Given the description of an element on the screen output the (x, y) to click on. 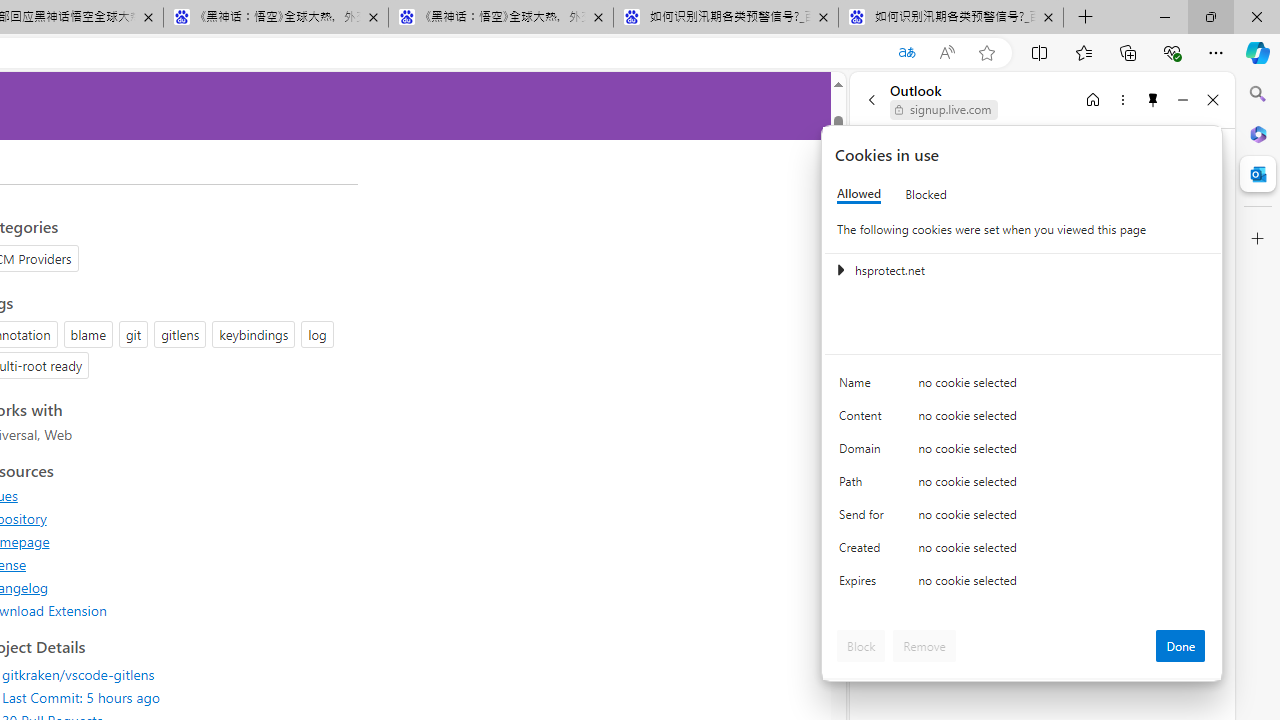
Class: c0153 c0157 c0154 (1023, 386)
no cookie selected (1062, 585)
Expires (864, 585)
Class: c0153 c0157 (1023, 584)
Name (864, 387)
Path (864, 485)
Allowed (859, 193)
Domain (864, 452)
Block (861, 645)
Remove (924, 645)
Done (1179, 645)
Blocked (925, 193)
Created (864, 552)
Content (864, 420)
Send for (864, 518)
